Given the description of an element on the screen output the (x, y) to click on. 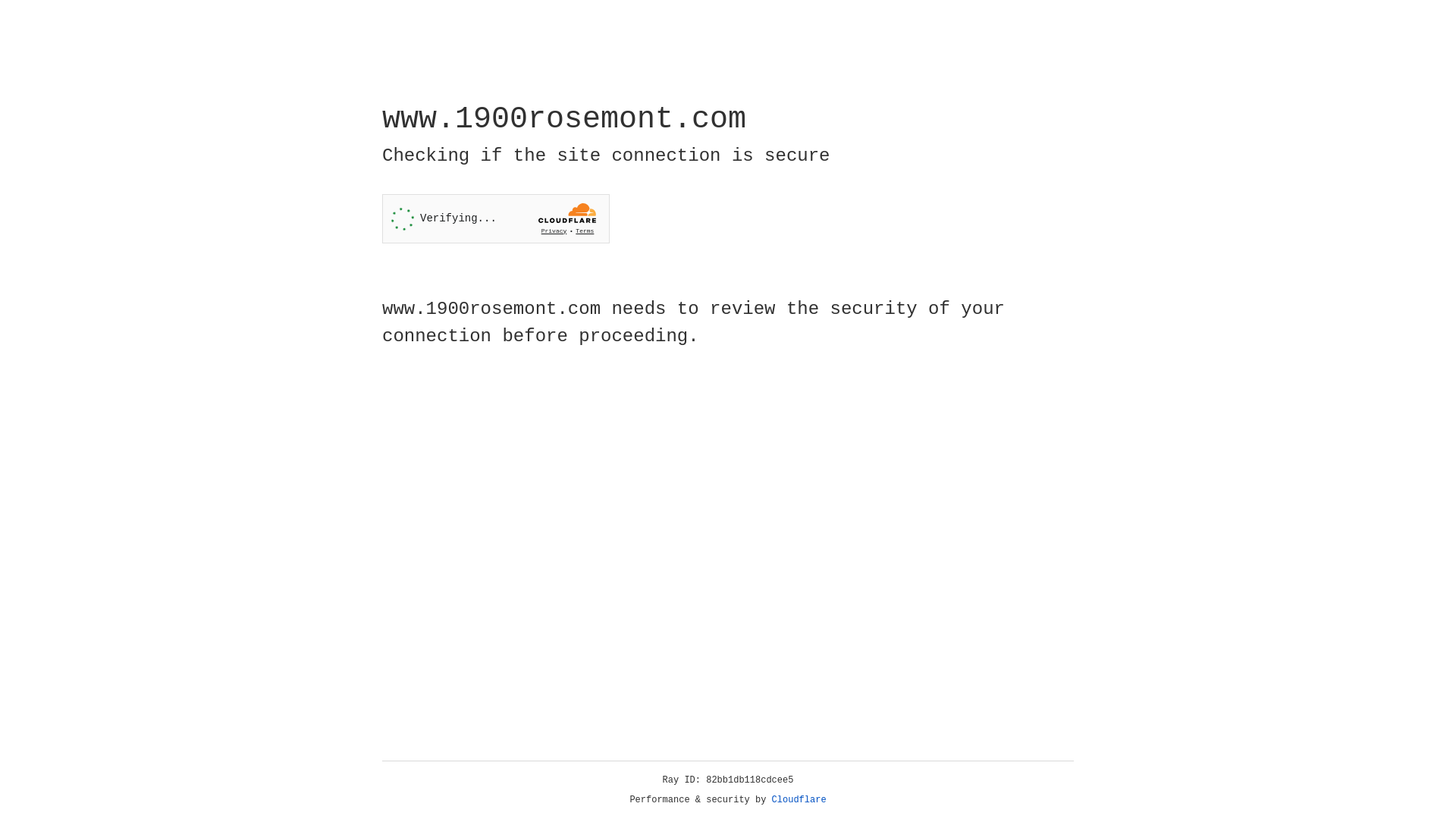
Widget containing a Cloudflare security challenge Element type: hover (495, 218)
Cloudflare Element type: text (798, 799)
